Given the description of an element on the screen output the (x, y) to click on. 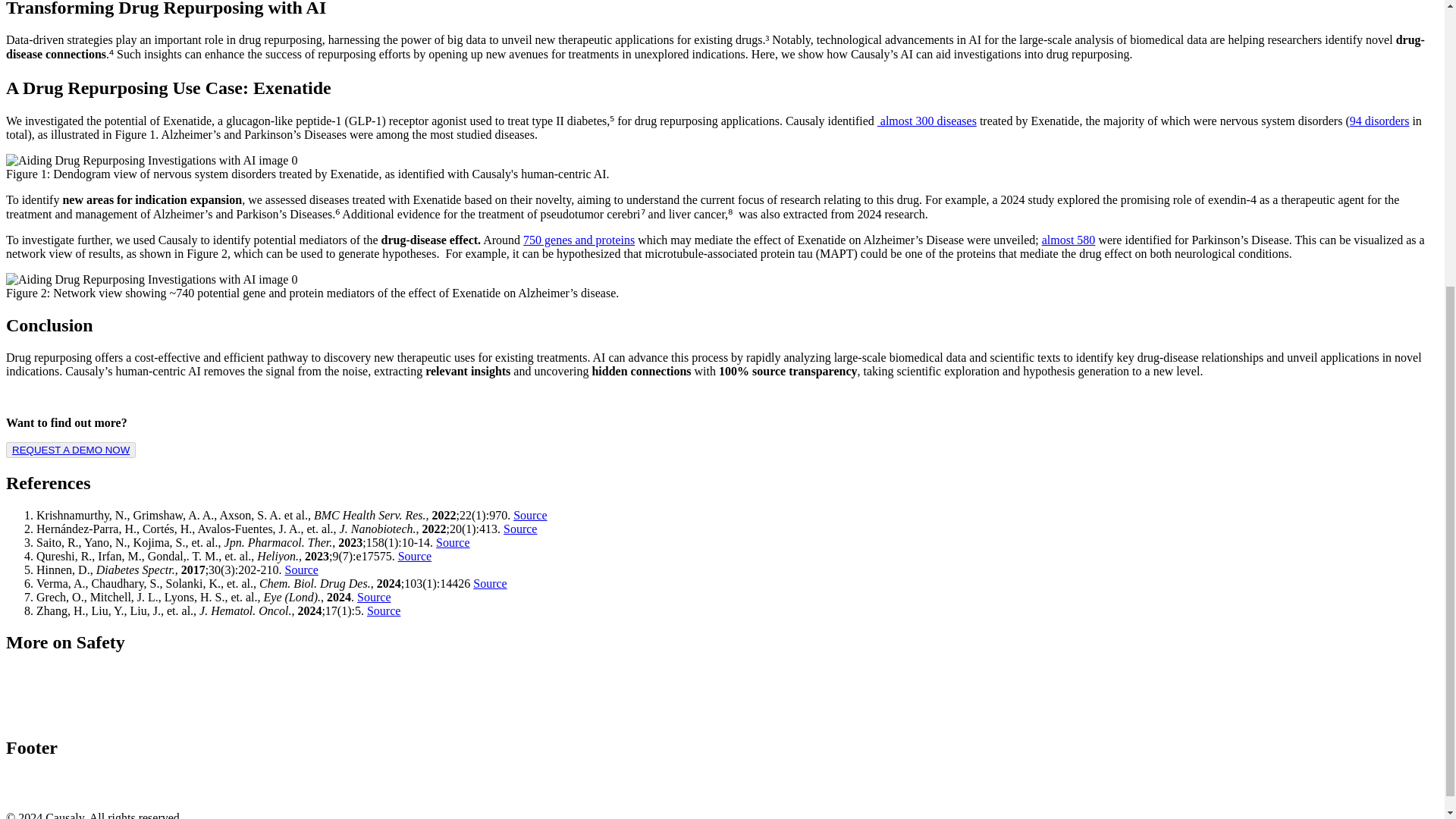
Source (383, 610)
Source (373, 596)
Source (530, 514)
REQUEST A DEMO NOW (70, 449)
 almost 300 diseases (926, 120)
Source (413, 555)
94 disorders (1379, 120)
almost 580 (1069, 239)
Source (451, 542)
750 genes and proteins (578, 239)
